Given the description of an element on the screen output the (x, y) to click on. 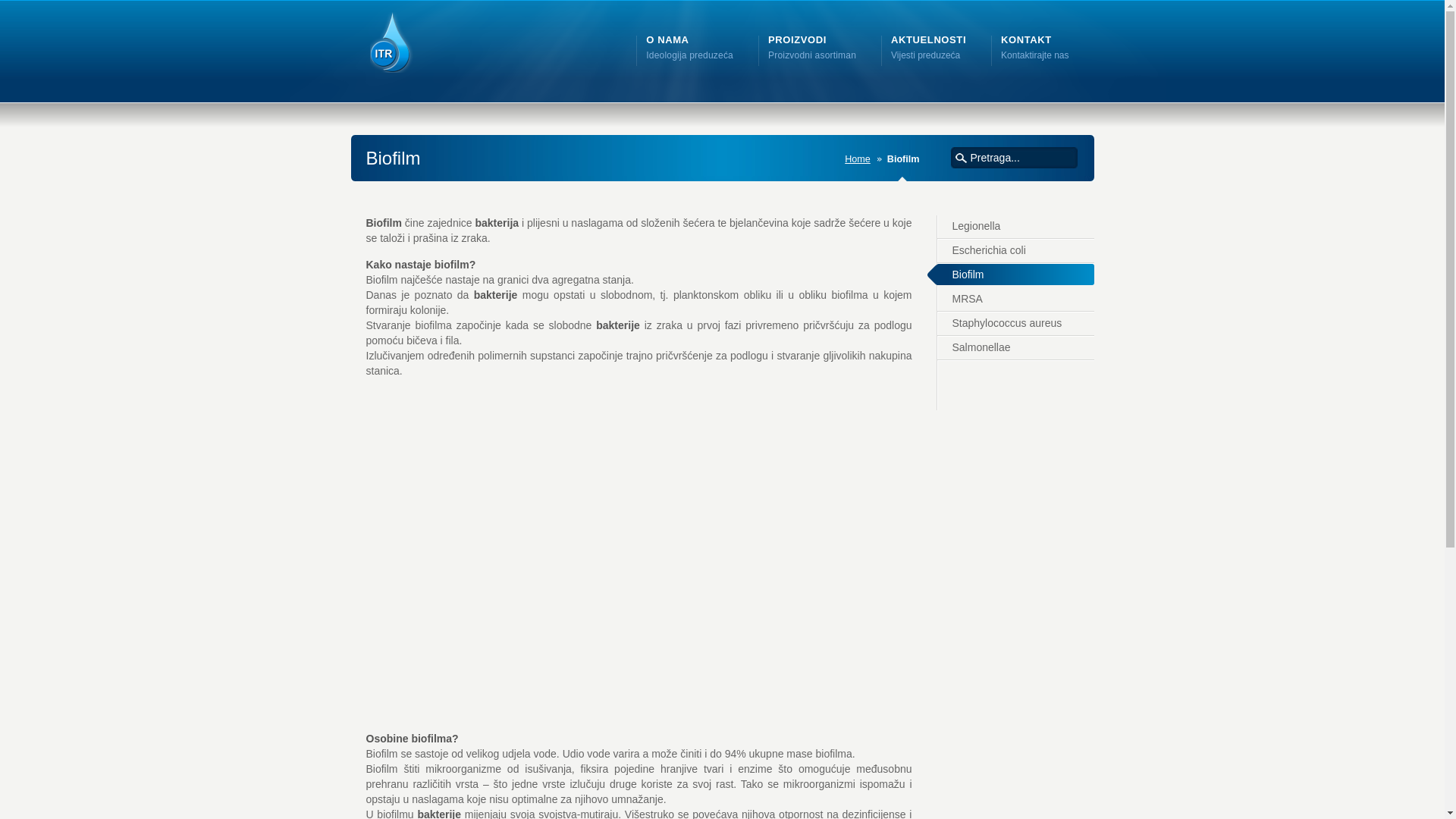
KONTAKT
Kontaktirajte nas Element type: text (1034, 47)
Salmonellae Element type: text (1015, 348)
PROIZVODI
Proizvodni asortiman Element type: text (812, 47)
Escherichia coli Element type: text (1015, 251)
Biofilm Element type: text (1009, 275)
MRSA Element type: text (1015, 300)
OK Element type: text (960, 158)
Staphylococcus aureus Element type: text (1015, 324)
Legionella Element type: text (1015, 227)
Home Element type: text (860, 158)
